Given the description of an element on the screen output the (x, y) to click on. 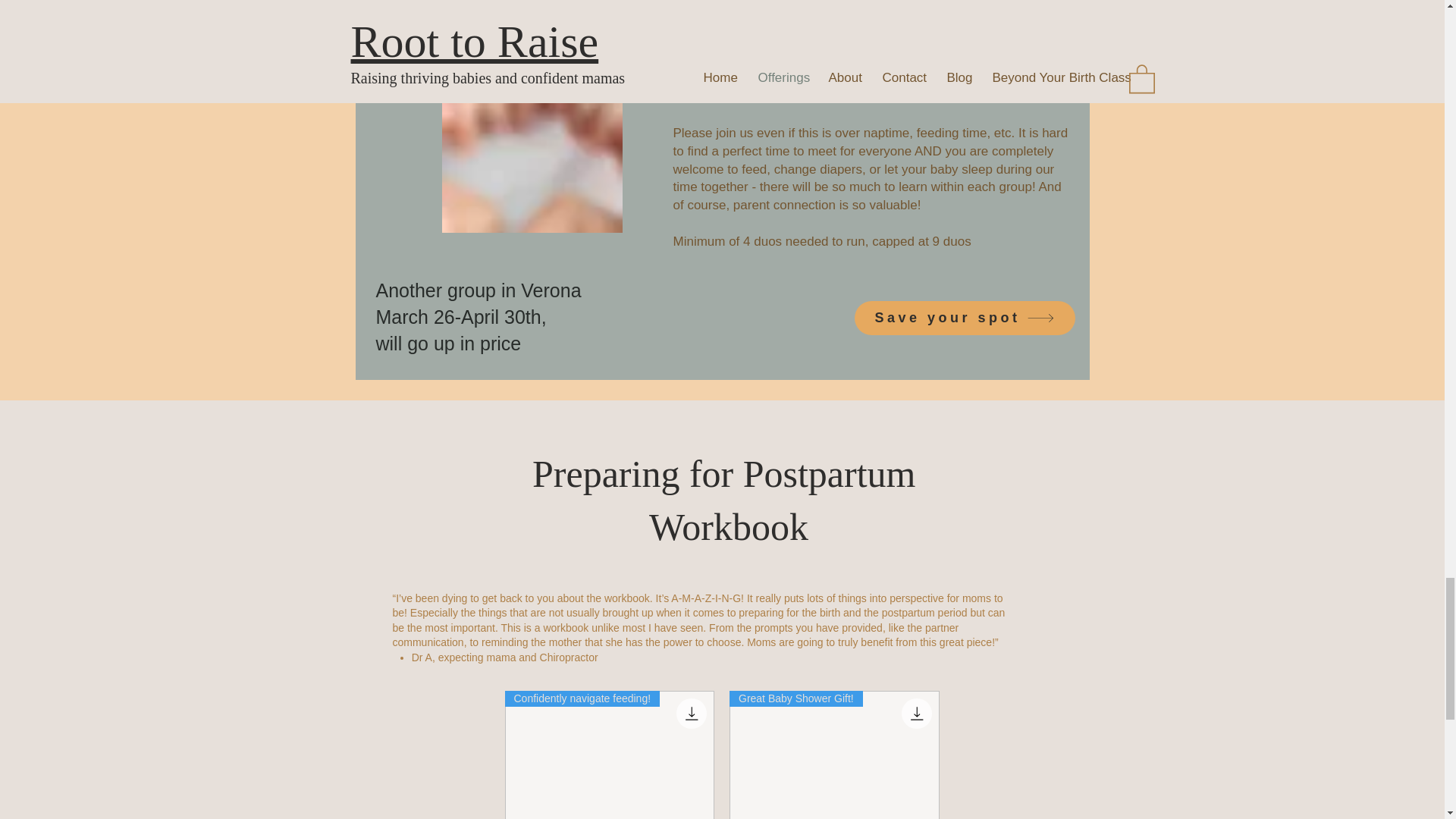
Great Baby Shower Gift! (834, 755)
Confidently navigate feeding! (609, 755)
Save your spot (963, 317)
